Given the description of an element on the screen output the (x, y) to click on. 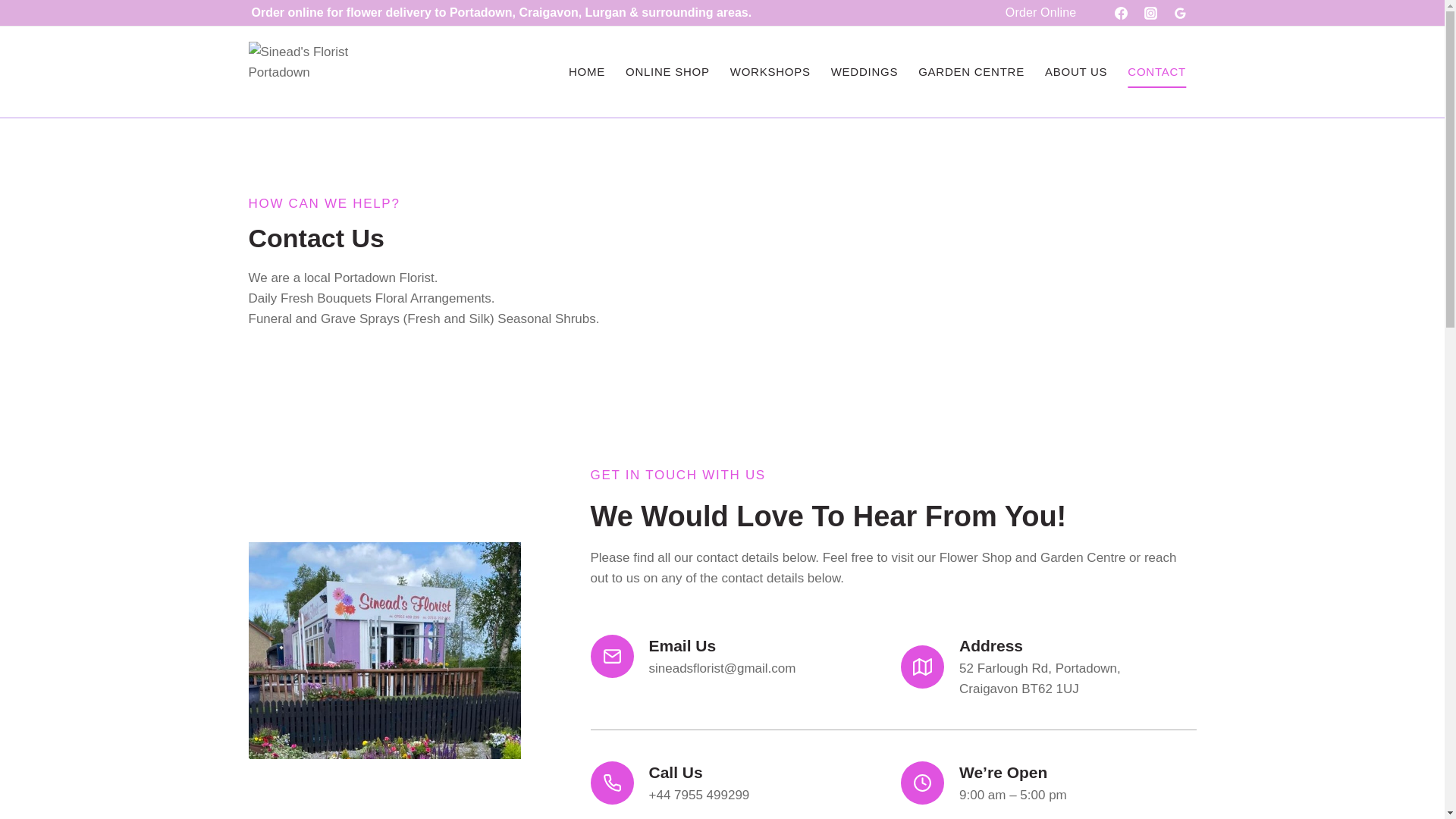
ONLINE SHOP (1048, 666)
GARDEN CENTRE (666, 71)
Order Online (971, 71)
WORKSHOPS (1041, 12)
HOME (770, 71)
ABOUT US (585, 71)
WEDDINGS (1074, 71)
CONTACT (864, 71)
